Given the description of an element on the screen output the (x, y) to click on. 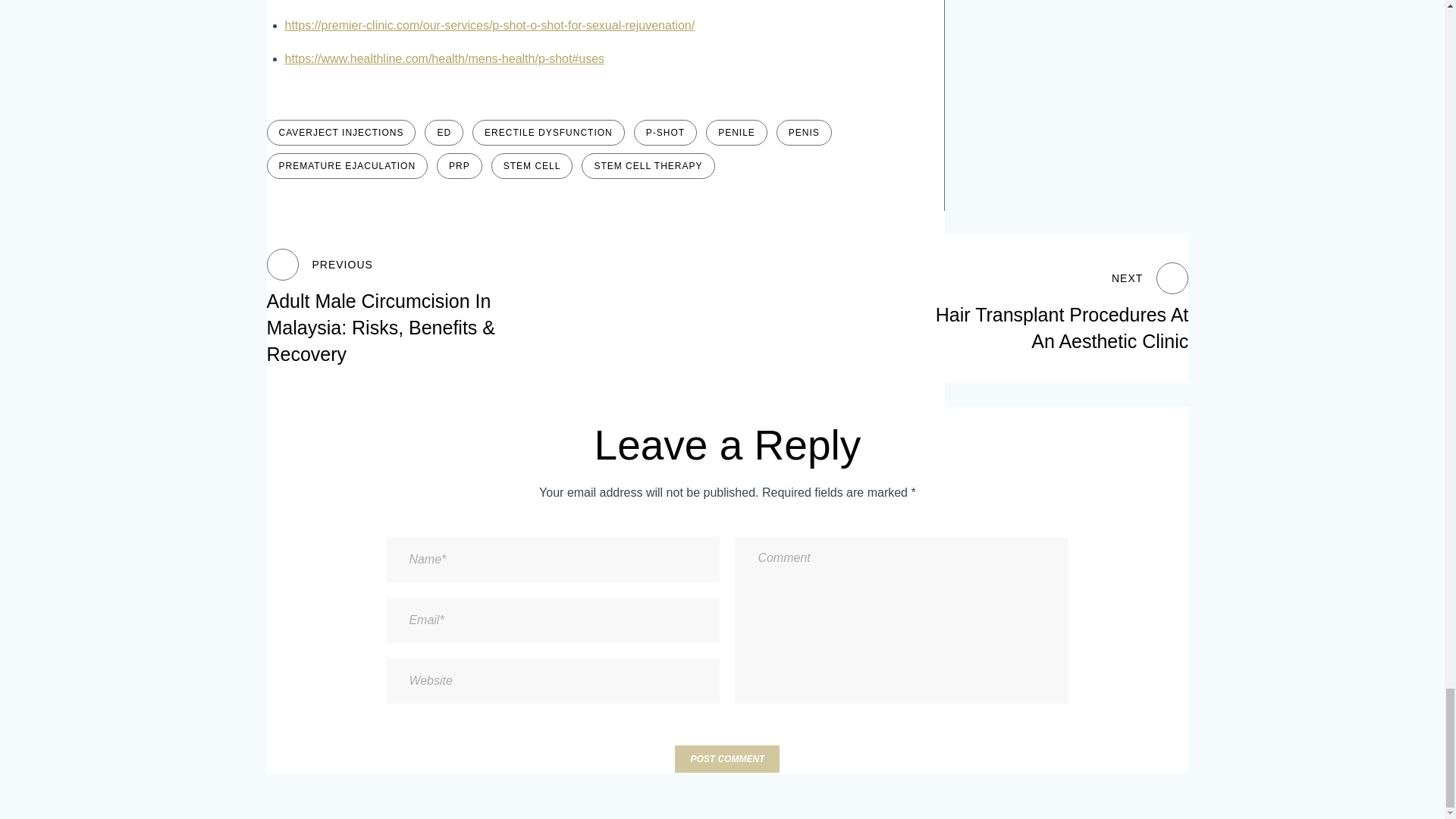
Post Comment (726, 759)
